Given the description of an element on the screen output the (x, y) to click on. 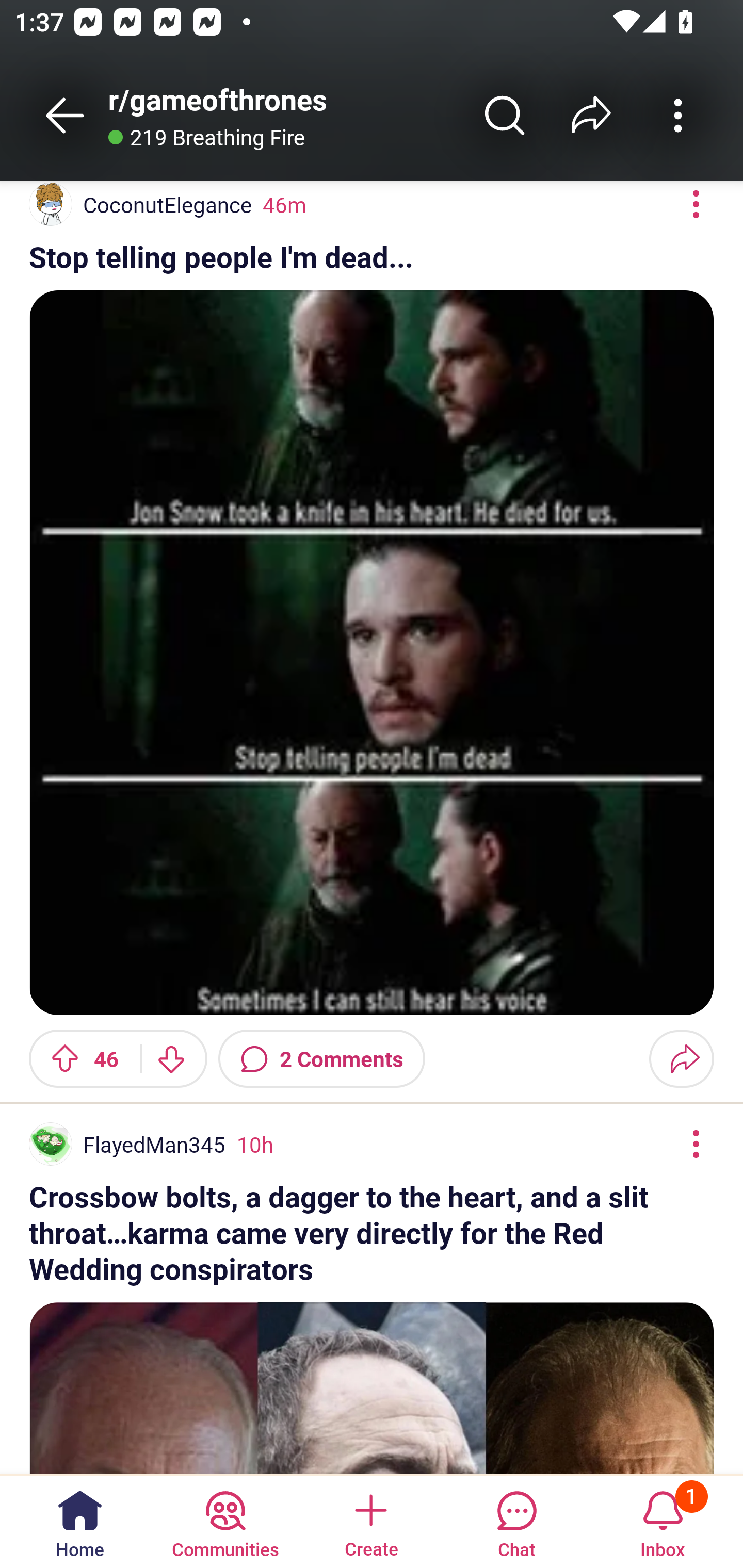
Back (64, 115)
Search r/﻿gameofthrones (504, 115)
Share r/﻿gameofthrones (591, 115)
More community actions (677, 115)
Home (80, 1520)
Communities (225, 1520)
Create a post Create (370, 1520)
Chat (516, 1520)
Inbox, has 1 notification 1 Inbox (662, 1520)
